Given the description of an element on the screen output the (x, y) to click on. 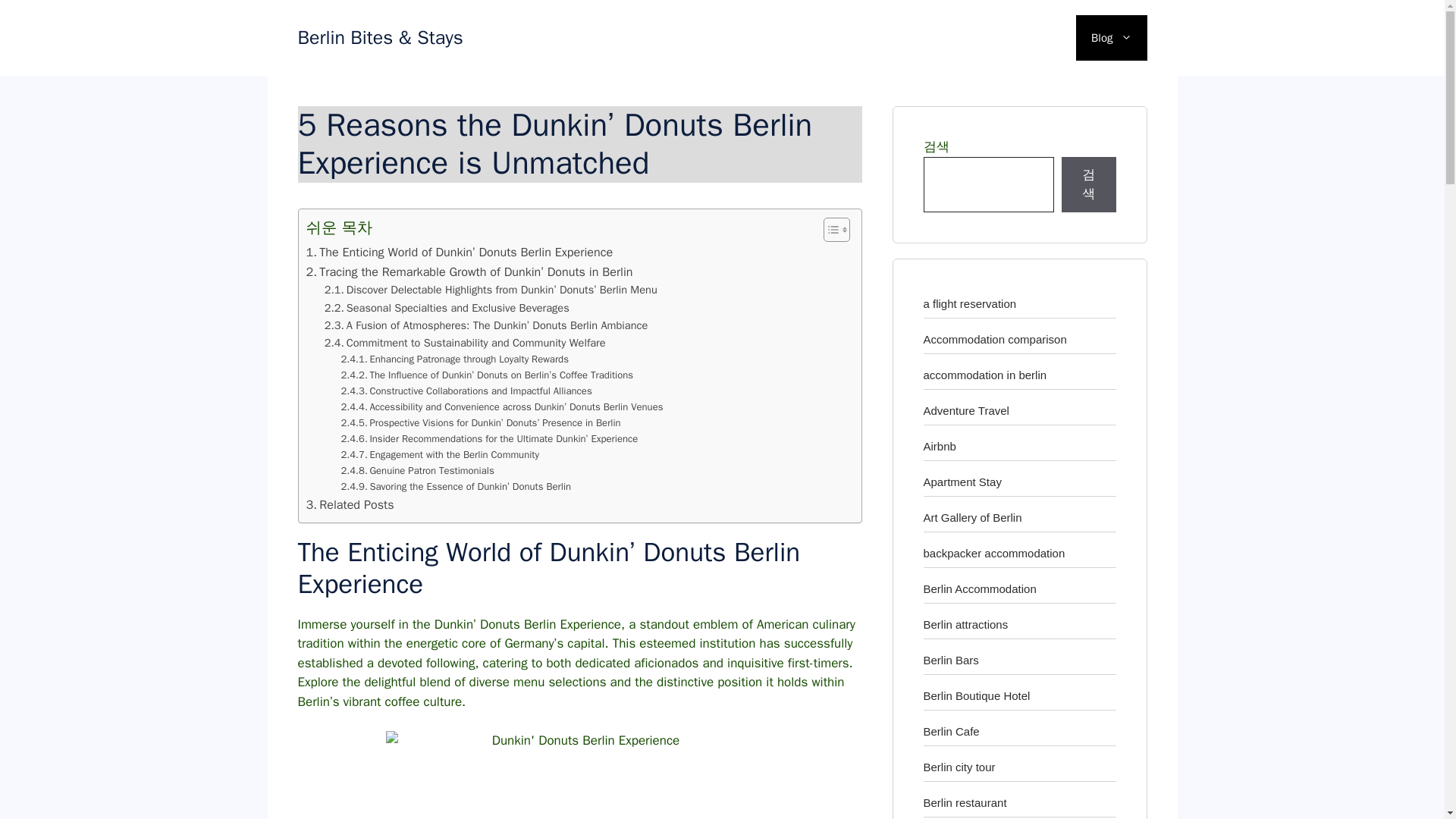
Related Posts (349, 505)
Genuine Patron Testimonials (417, 471)
Enhancing Patronage through Loyalty Rewards (454, 359)
Constructive Collaborations and Impactful Alliances (466, 391)
Seasonal Specialties and Exclusive Beverages (446, 307)
Enhancing Patronage through Loyalty Rewards (454, 359)
Commitment to Sustainability and Community Welfare (464, 343)
Related Posts (349, 505)
Blog (1111, 37)
a flight reservation (969, 303)
Engagement with the Berlin Community (440, 455)
Commitment to Sustainability and Community Welfare (464, 343)
Engagement with the Berlin Community (440, 455)
Accommodation comparison (995, 338)
accommodation in berlin (984, 374)
